Given the description of an element on the screen output the (x, y) to click on. 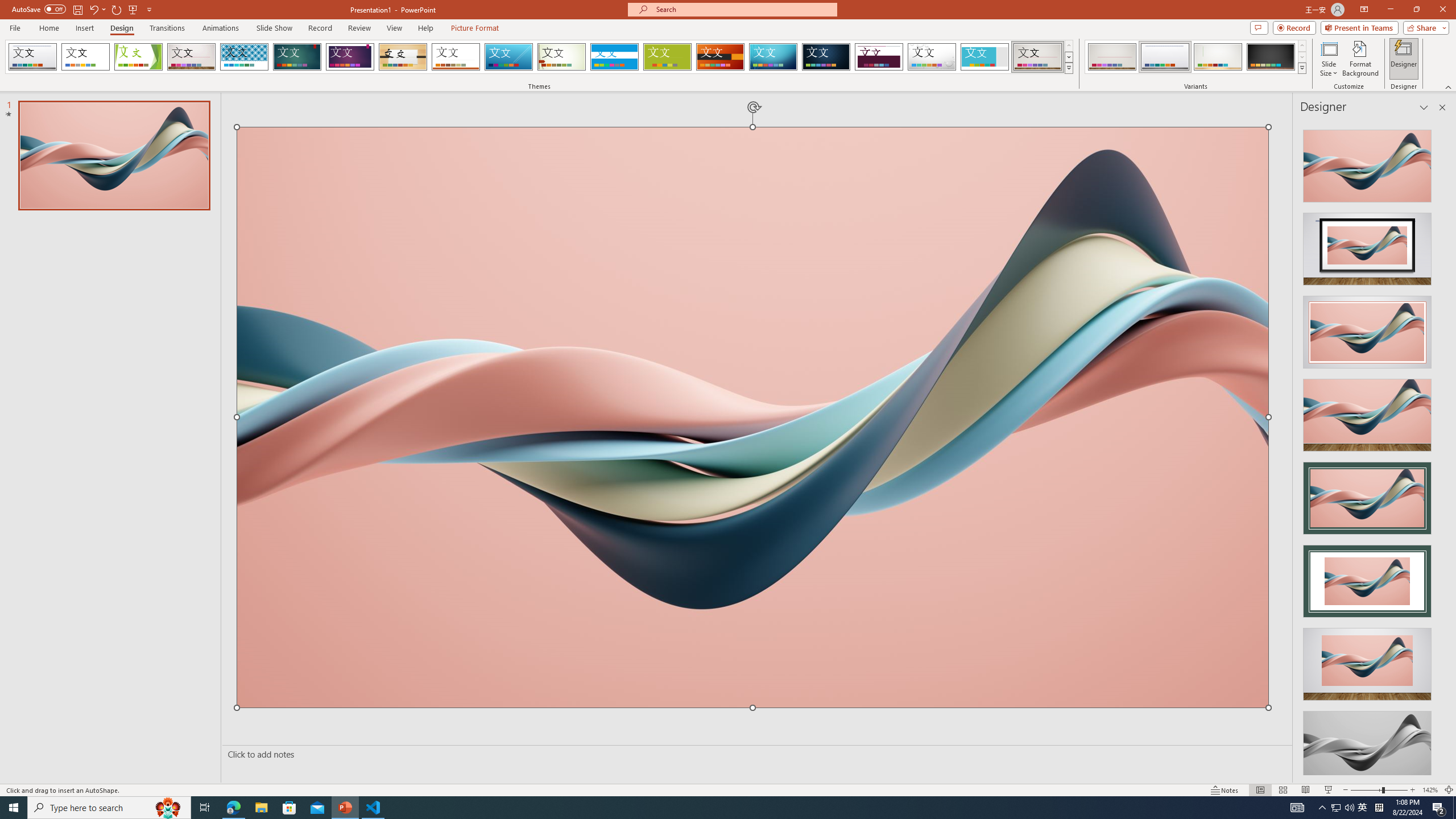
Office Theme (85, 56)
Circuit (772, 56)
Droplet (931, 56)
Berlin (720, 56)
Slice (508, 56)
Organic (403, 56)
